Given the description of an element on the screen output the (x, y) to click on. 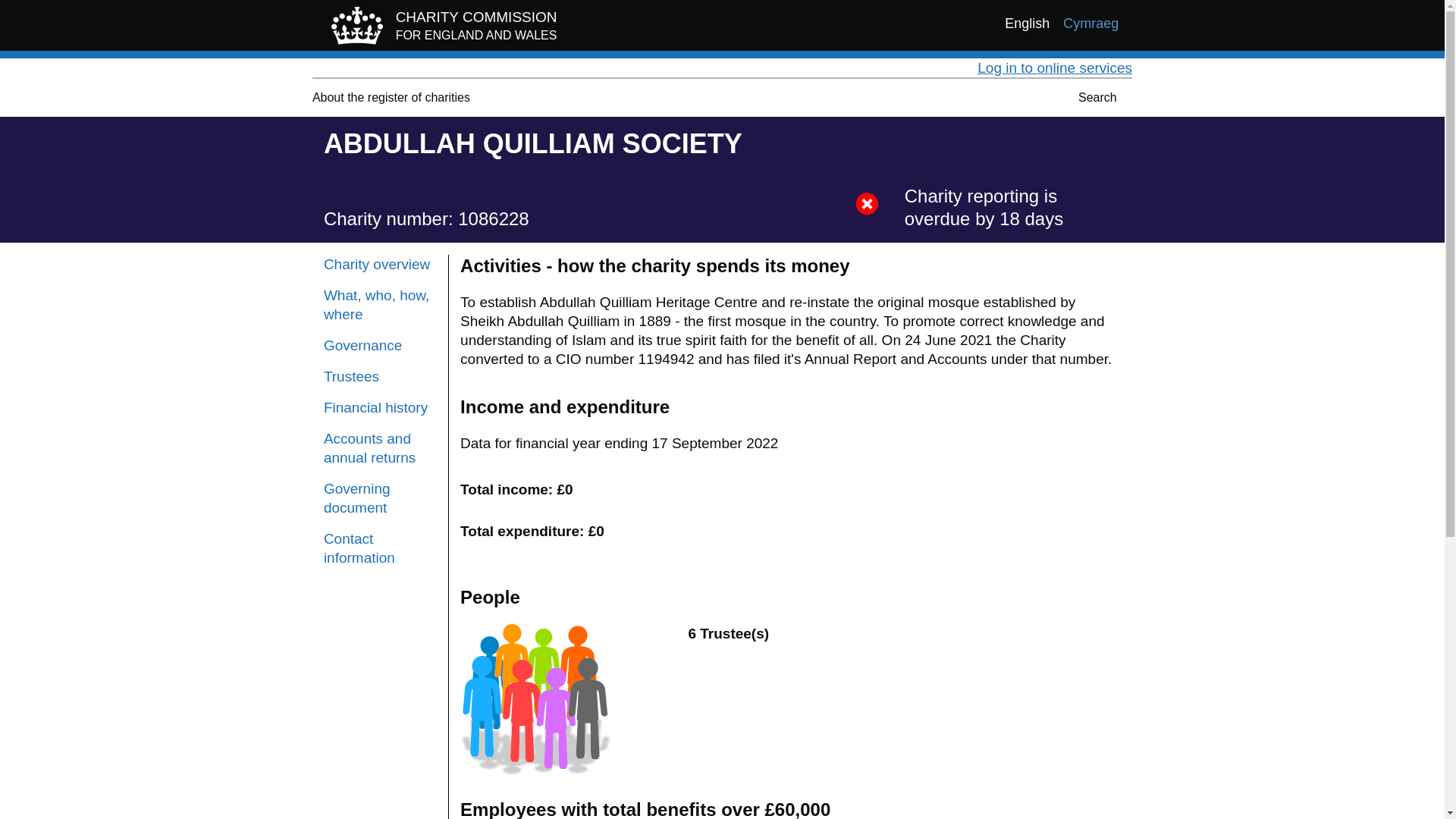
Contact information (379, 548)
Cymraeg (1091, 23)
About the register of charities (391, 97)
Accounts and annual returns (379, 447)
Trustees (379, 375)
Governance (379, 344)
Financial history (379, 407)
Charity overview (379, 263)
Log in to online services (439, 28)
What, who, how, where (1054, 67)
Governing document (379, 304)
About the register of charities (379, 497)
